Given the description of an element on the screen output the (x, y) to click on. 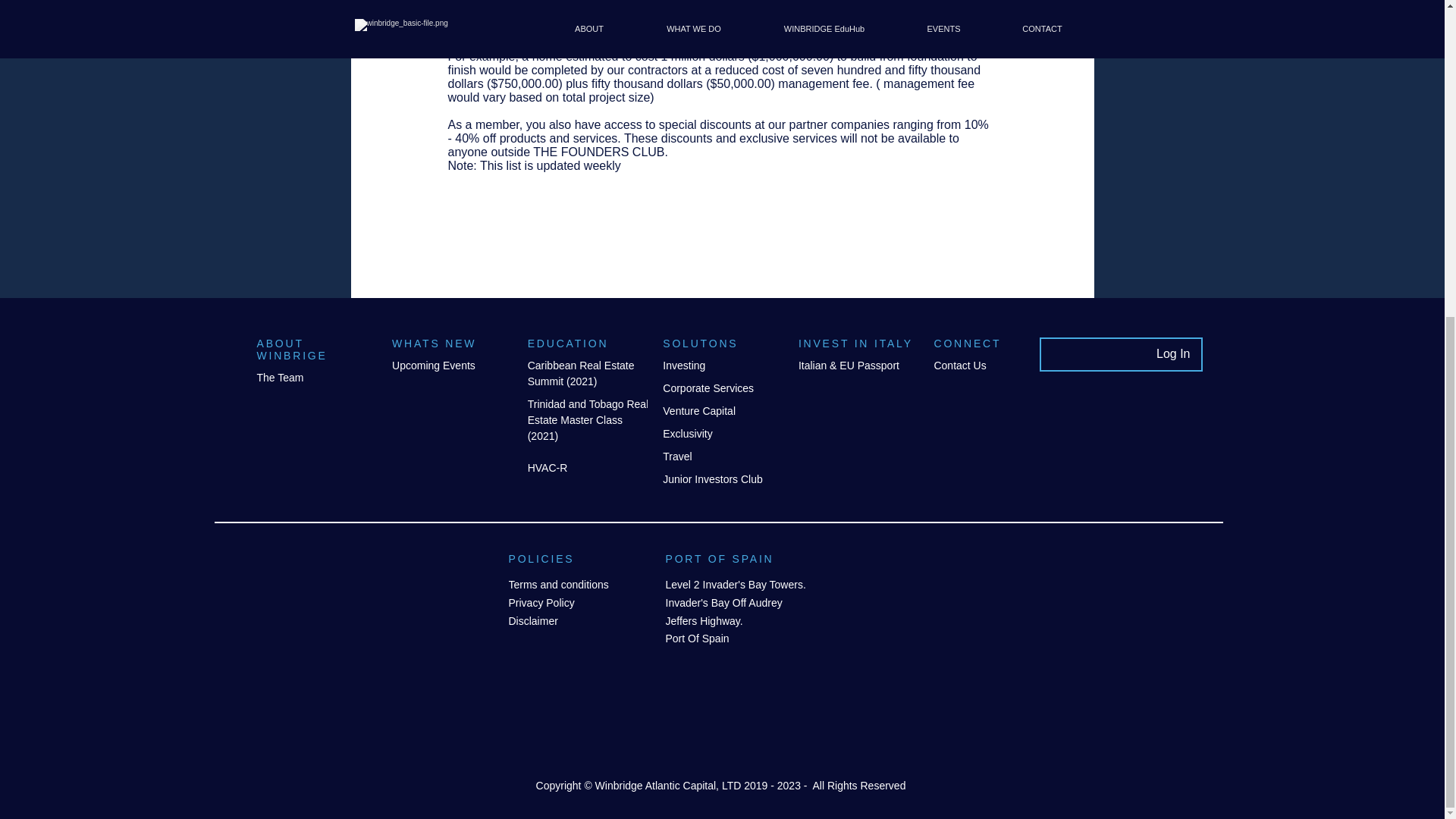
Investing (683, 365)
Privacy Policy (540, 603)
Terms and conditions  (559, 584)
Venture Capital (698, 410)
Junior Investors Club (712, 479)
Log In (1172, 353)
HVAC-R (547, 467)
The Team (279, 377)
Disclaimer (532, 621)
Upcoming Events (433, 365)
